Given the description of an element on the screen output the (x, y) to click on. 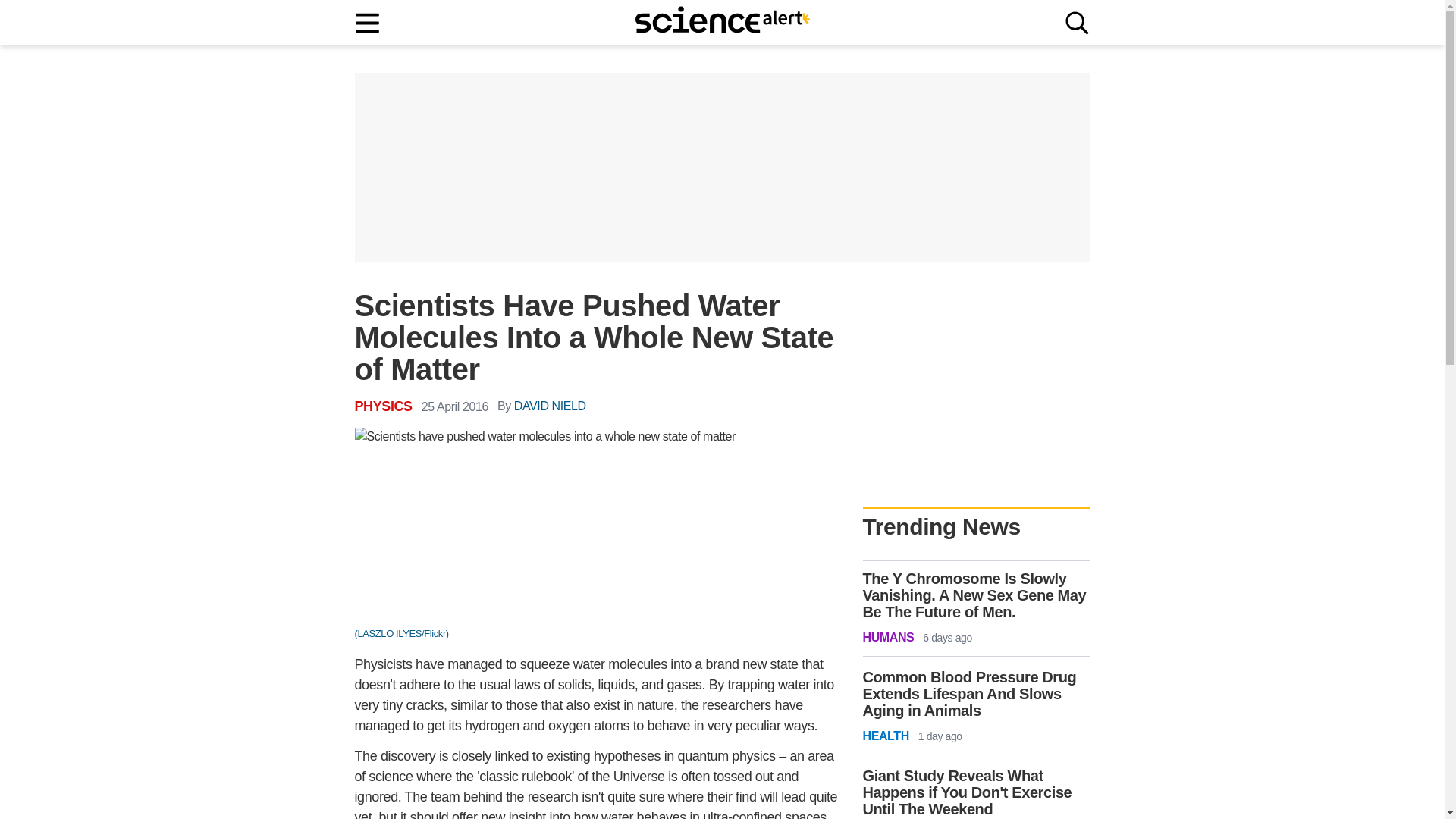
PHYSICS (383, 406)
DAVID NIELD (549, 405)
